Given the description of an element on the screen output the (x, y) to click on. 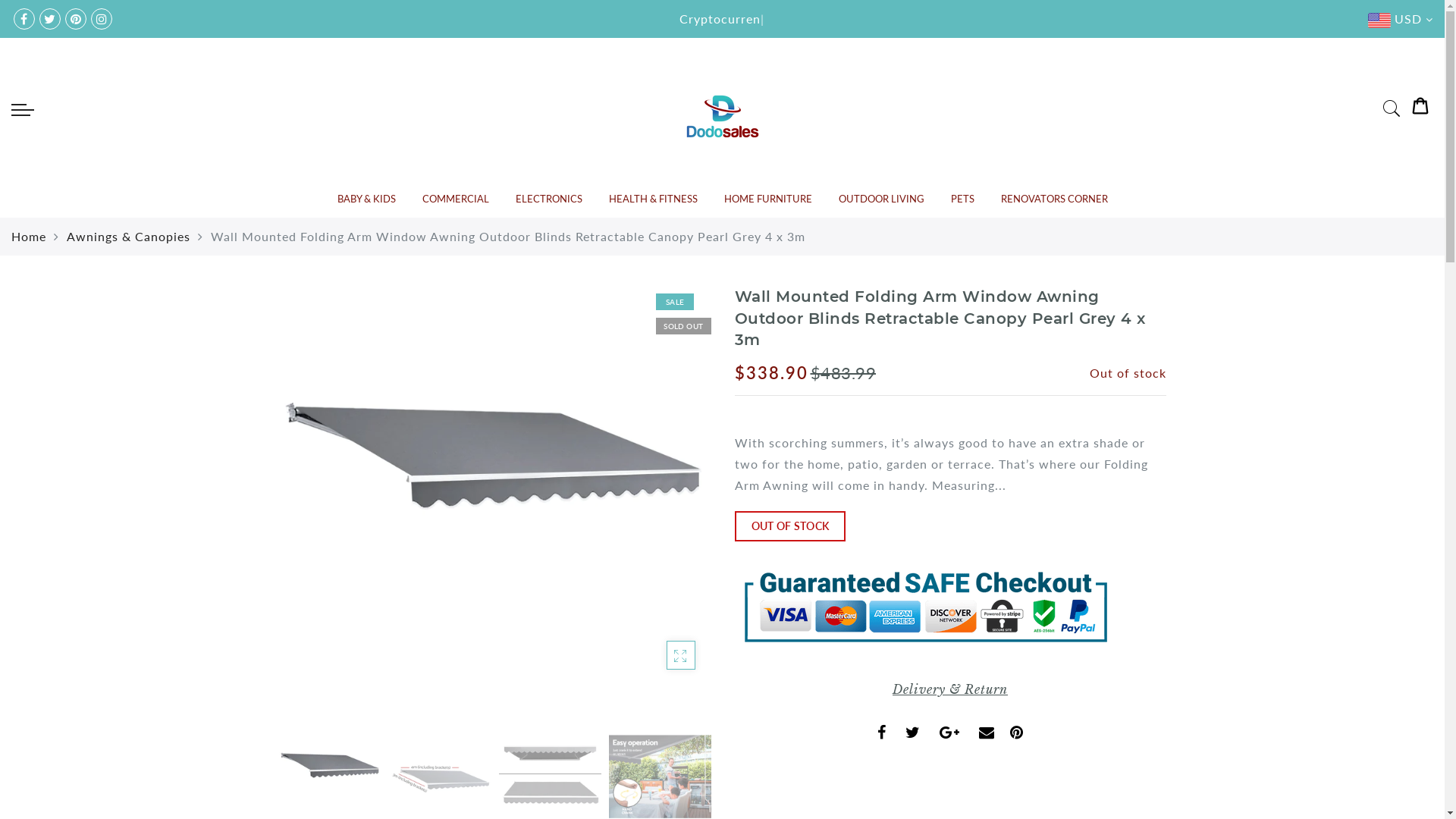
Awnings & Canopies Element type: text (128, 236)
Delivery & Return Element type: text (949, 688)
ELECTRONICS Element type: text (548, 198)
HEALTH & FITNESS Element type: text (652, 198)
RENOVATORS CORNER Element type: text (1054, 198)
PETS Element type: text (962, 198)
View your shopping cart Element type: hover (1420, 108)
COMMERCIAL Element type: text (454, 198)
OUTDOOR LIVING Element type: text (881, 198)
HOME FURNITURE Element type: text (767, 198)
BABY & KIDS Element type: text (365, 198)
Home Element type: text (28, 236)
